Given the description of an element on the screen output the (x, y) to click on. 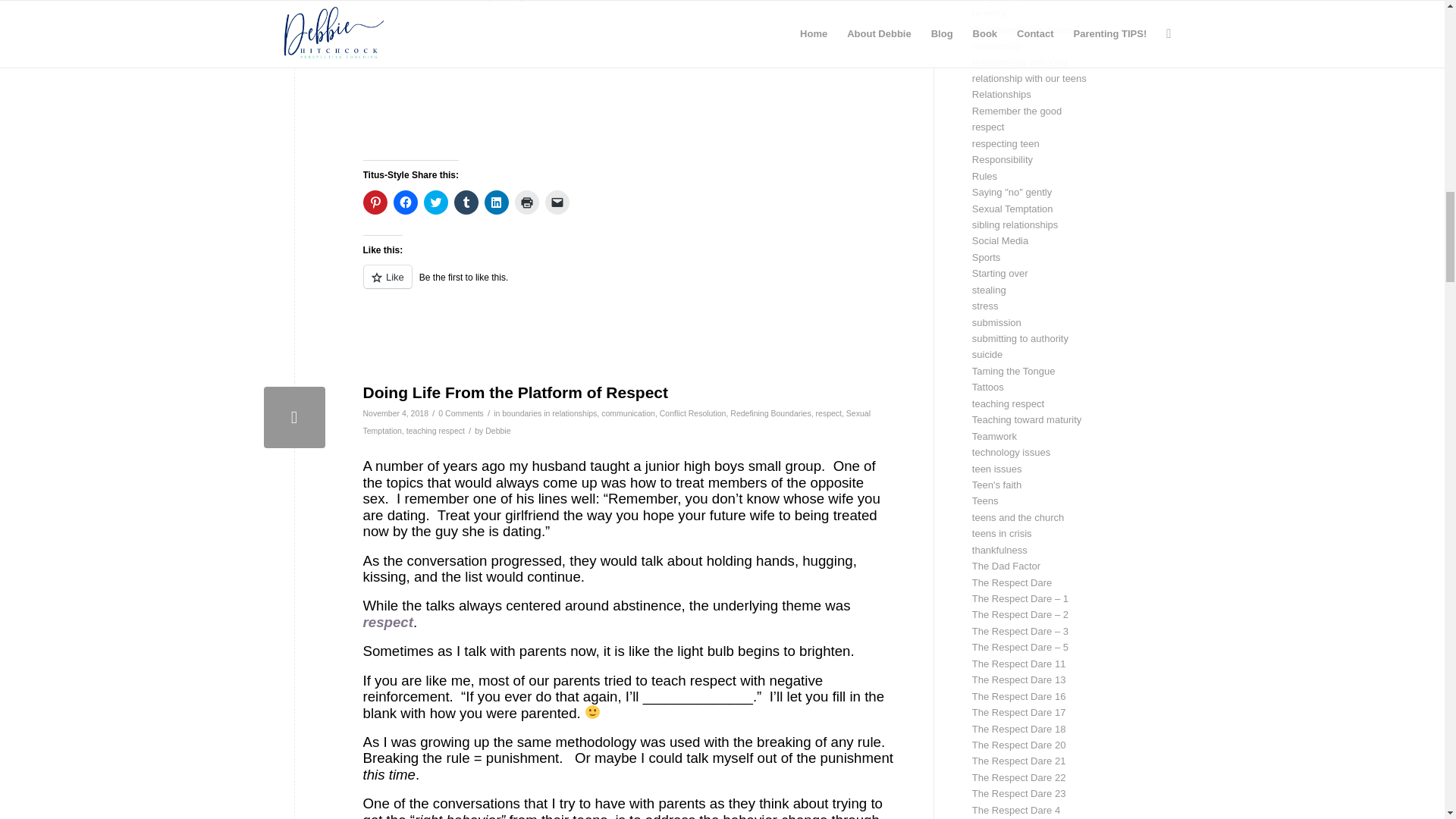
Click to print (525, 202)
Click to email a link to a friend (556, 202)
Click to share on Pinterest (374, 202)
Sexual Temptation (616, 421)
0 Comments (460, 412)
Permanent Link: Doing Life From the Platform of Respect (515, 392)
boundaries in relationships (549, 412)
Like or Reblog (628, 285)
Click to share on LinkedIn (495, 202)
Click to share on Twitter (434, 202)
